Given the description of an element on the screen output the (x, y) to click on. 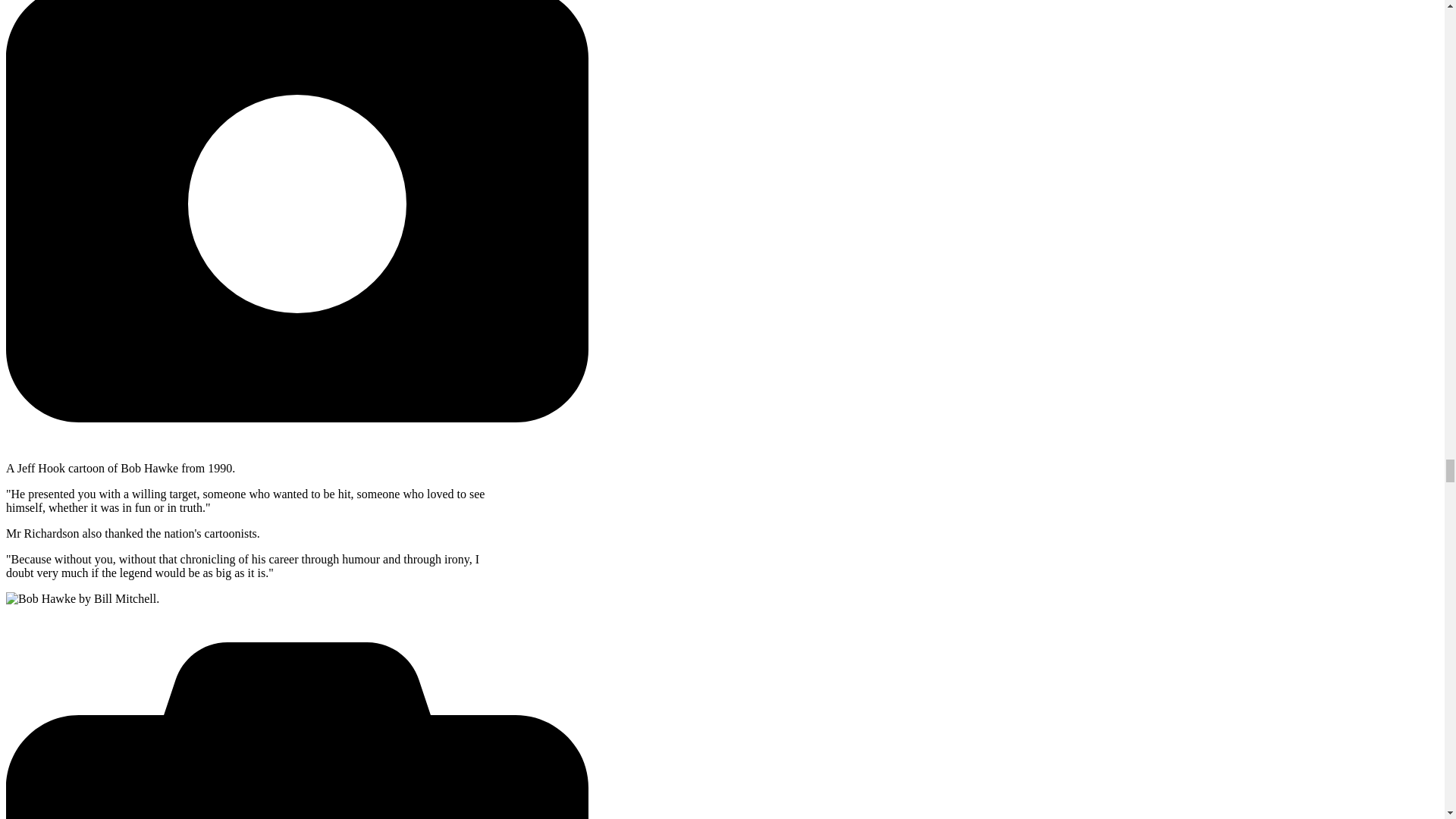
Bob Hawke by Bill Mitchell. (81, 599)
